Given the description of an element on the screen output the (x, y) to click on. 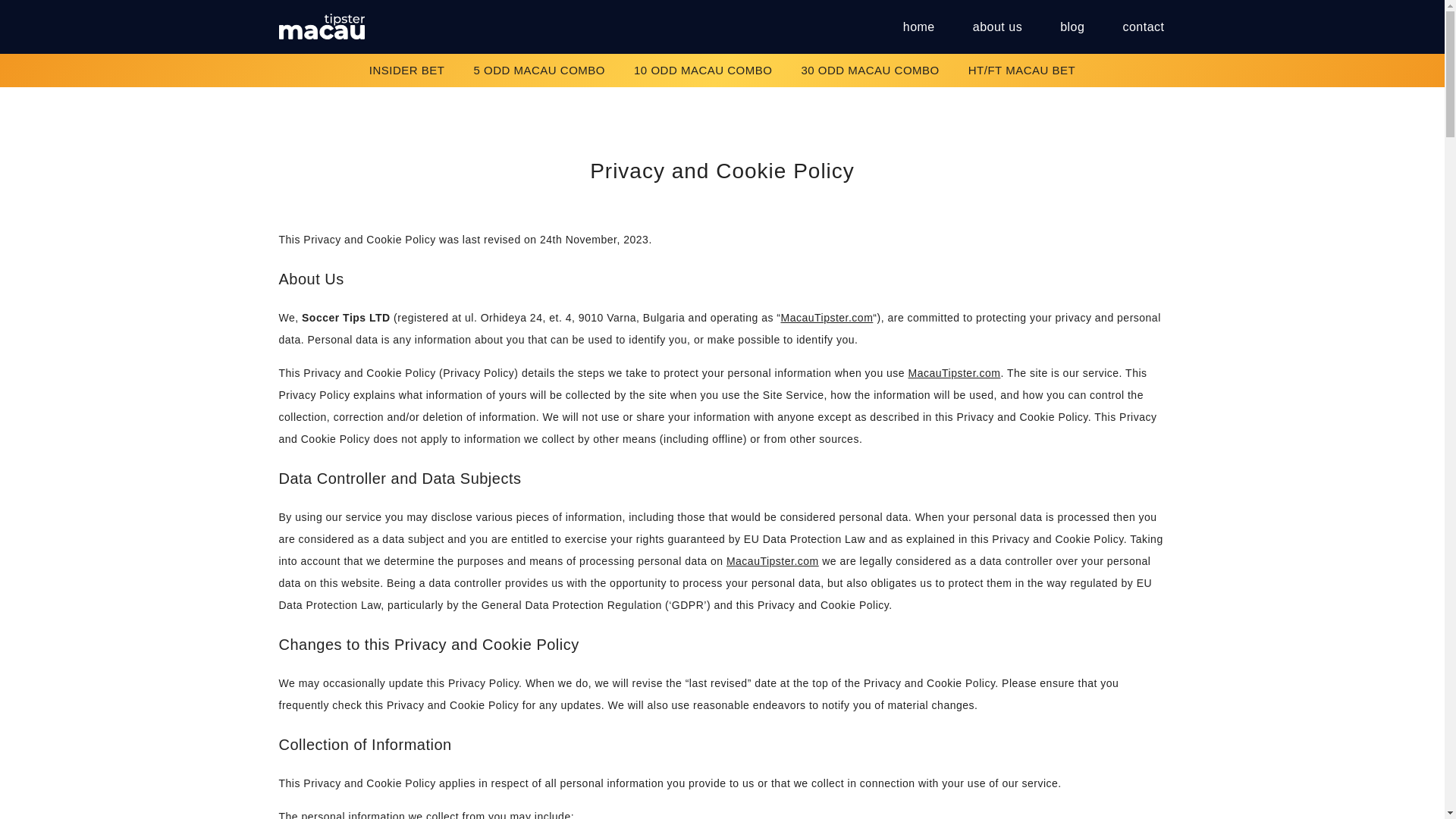
MacauTipster.com (954, 372)
MacauTipster.com (826, 317)
MacauTipster.com (772, 561)
home (918, 27)
contact (1134, 27)
5 ODD MACAU COMBO (539, 70)
blog (1072, 27)
30 ODD MACAU COMBO (868, 70)
10 ODD MACAU COMBO (702, 70)
about us (997, 27)
INSIDER BET (406, 70)
